Given the description of an element on the screen output the (x, y) to click on. 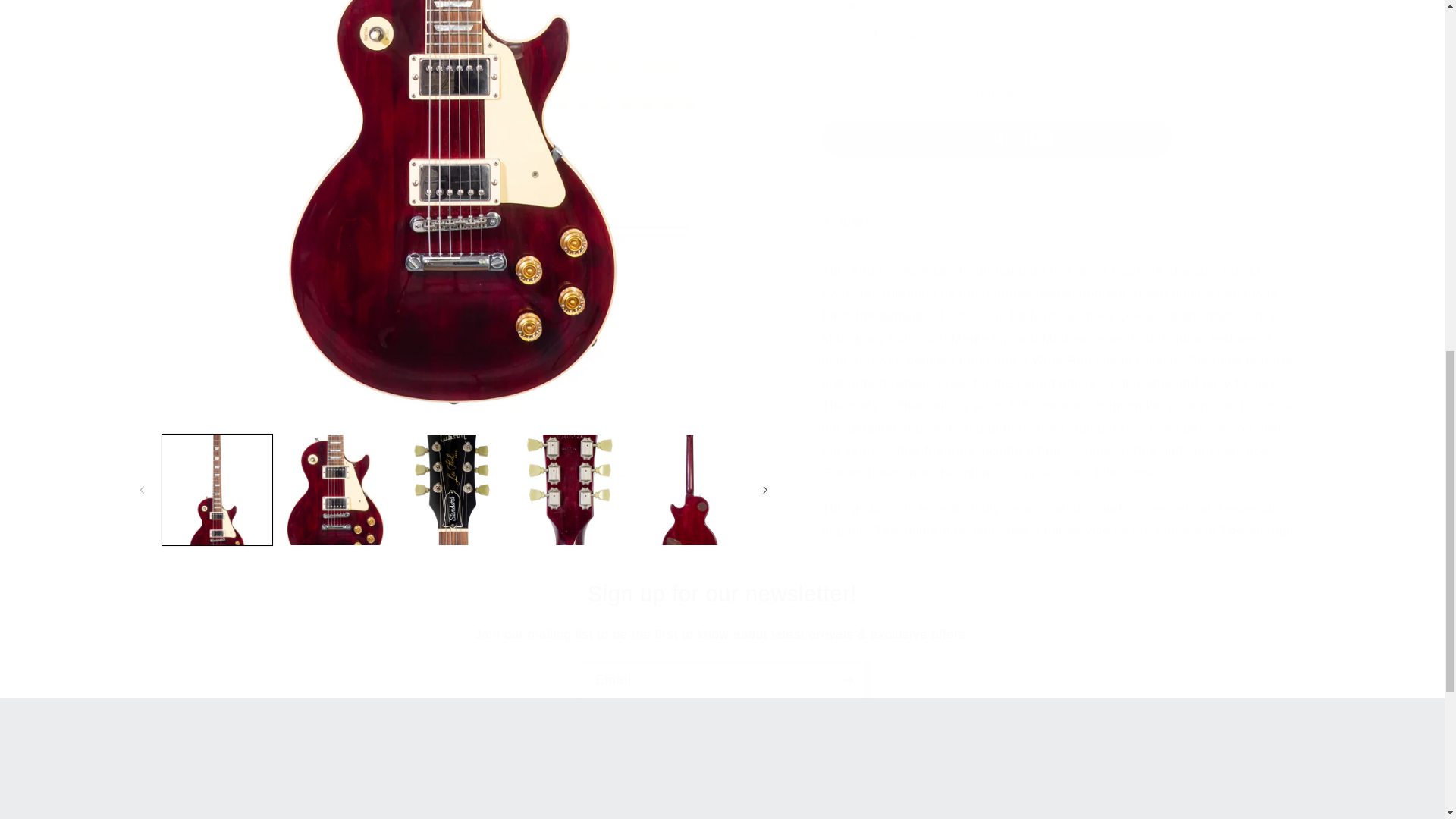
Open media 1 in modal (1171, 789)
Email (273, 789)
